Given the description of an element on the screen output the (x, y) to click on. 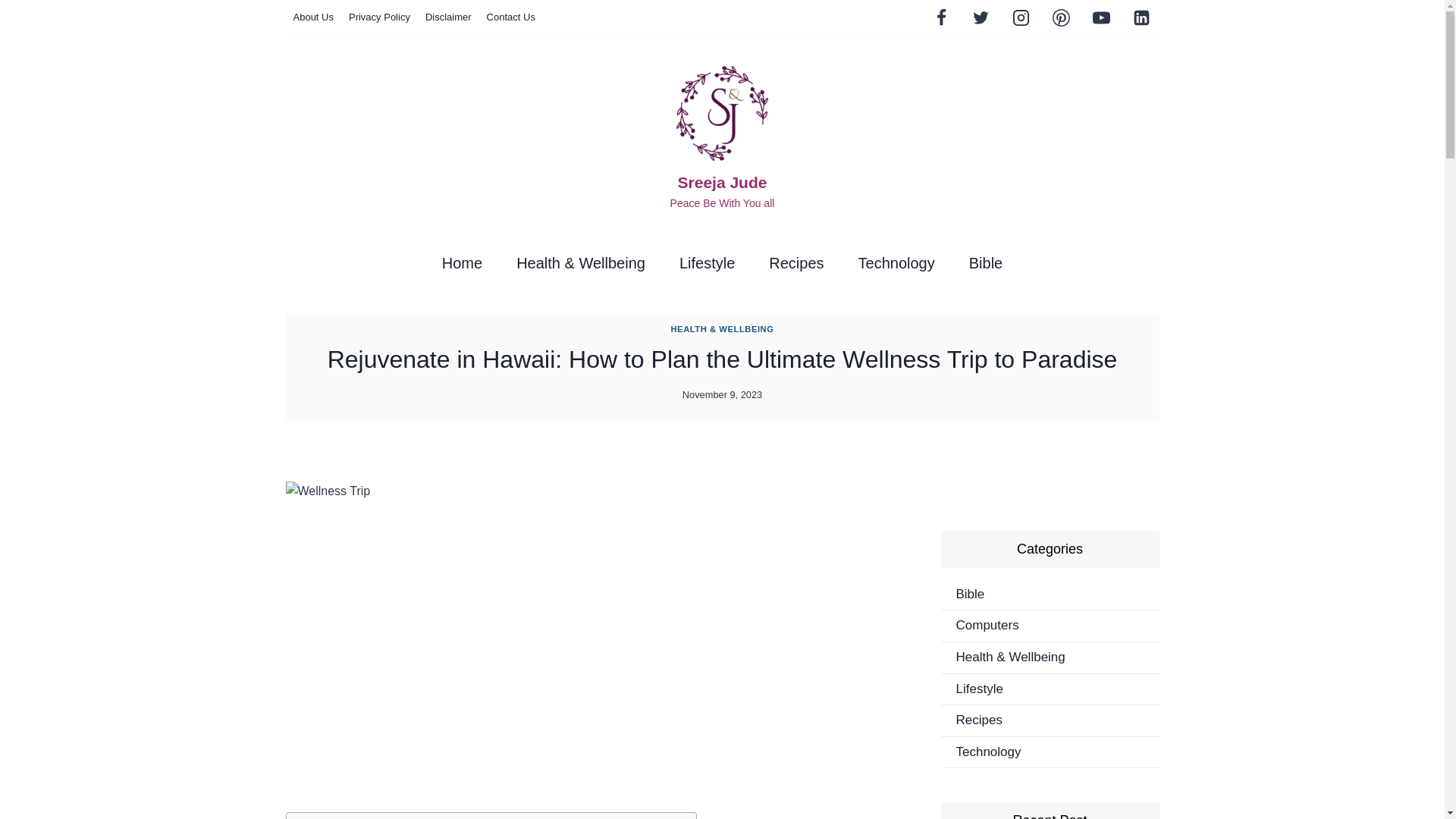
About Us (312, 17)
Lifestyle (706, 262)
Contact Us (511, 17)
Bible (985, 262)
Disclaimer (448, 17)
Recipes (796, 262)
Technology (896, 262)
Privacy Policy (378, 17)
Home (462, 262)
